Given the description of an element on the screen output the (x, y) to click on. 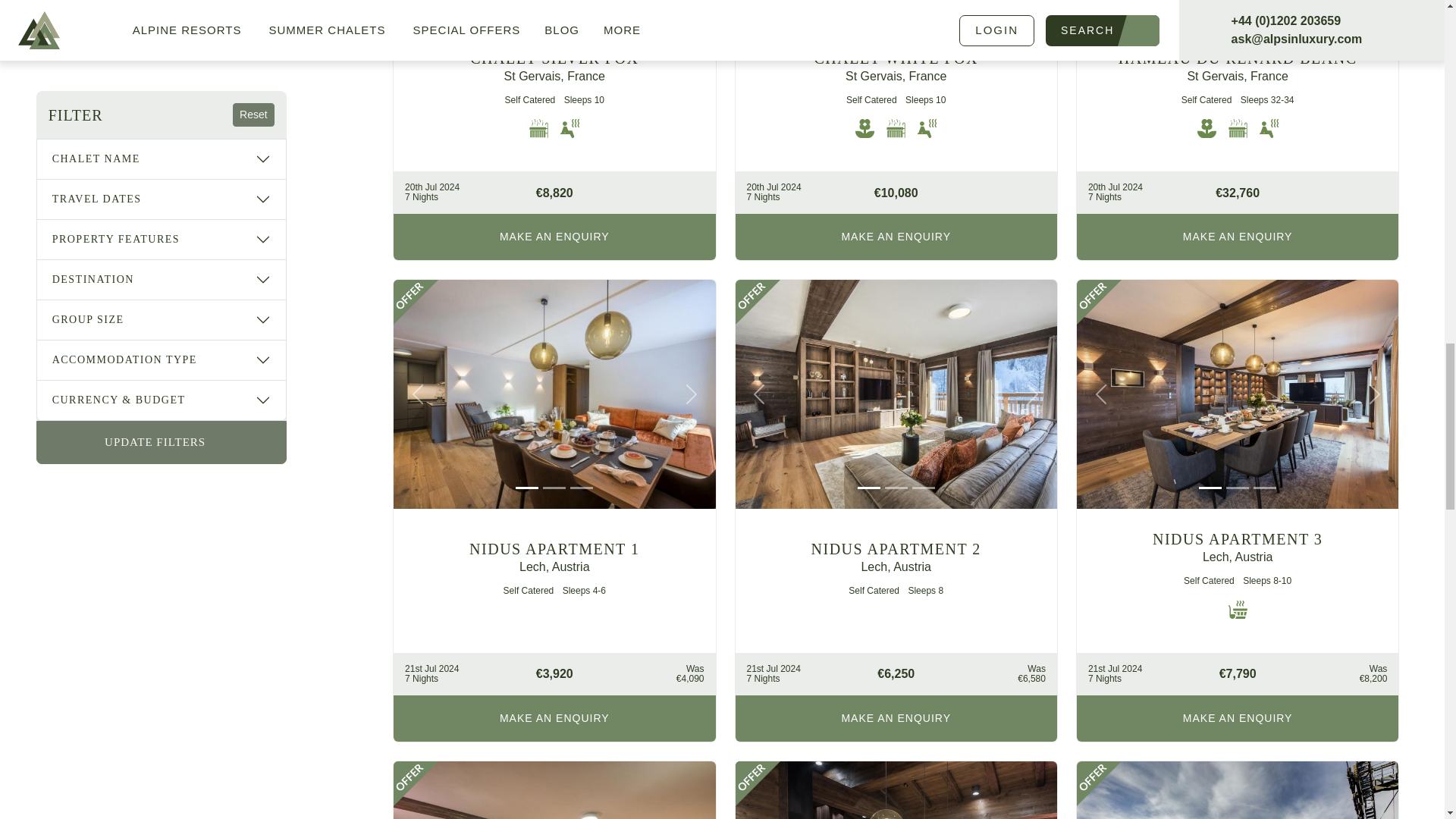
Add to your wishlist (692, 783)
Add to your wishlist (1375, 783)
Add to your wishlist (692, 302)
Add to your wishlist (1375, 302)
Add to your wishlist (1034, 302)
Add to your wishlist (1034, 783)
